Given the description of an element on the screen output the (x, y) to click on. 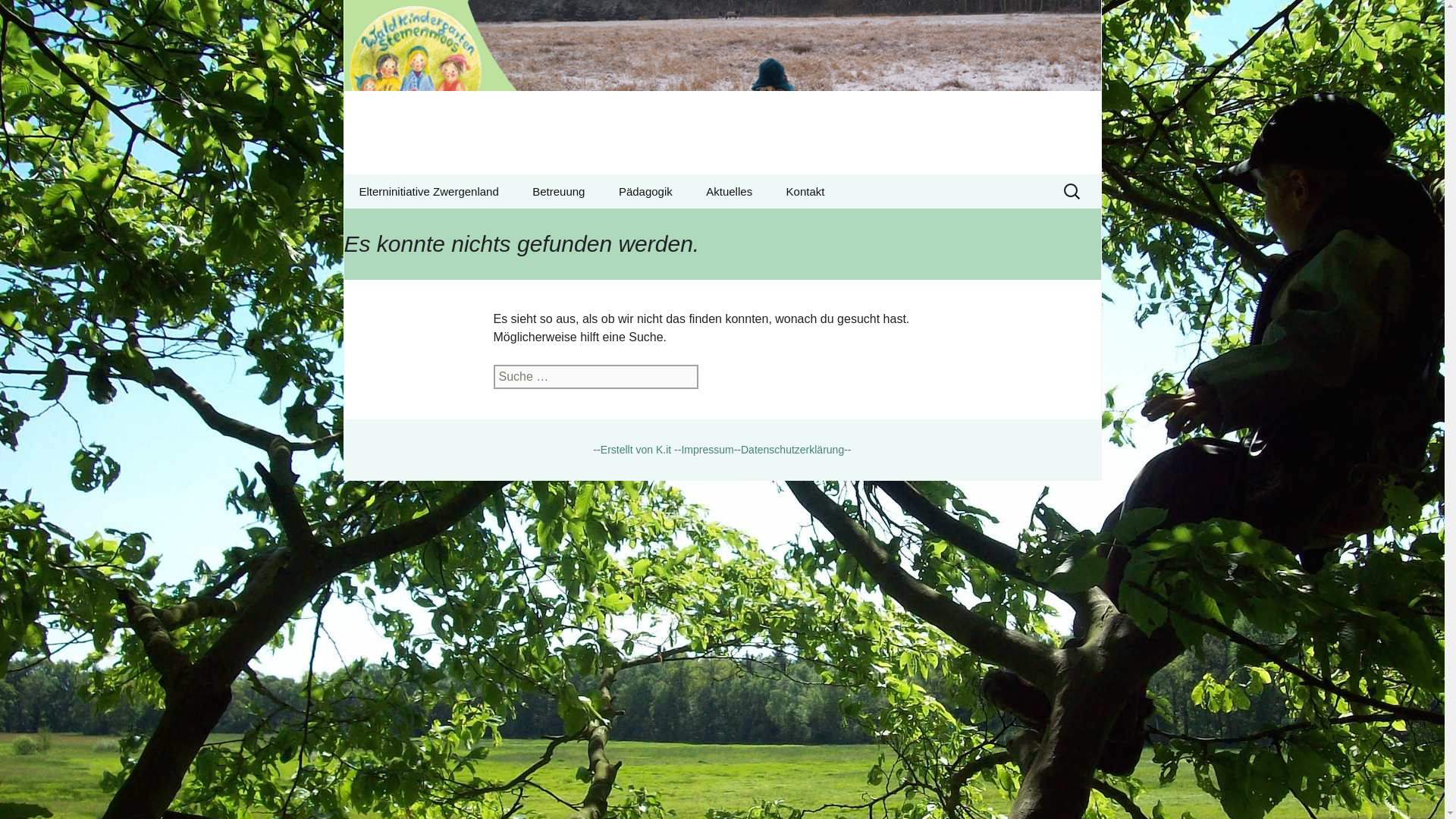
Kontakt (805, 191)
Zum Inhalt springen (721, 87)
Erstellt von K.it (428, 191)
Grundlagen (635, 449)
Suche (679, 225)
Suche (34, 15)
Der Verein (18, 15)
Aktuelles (419, 225)
